Given the description of an element on the screen output the (x, y) to click on. 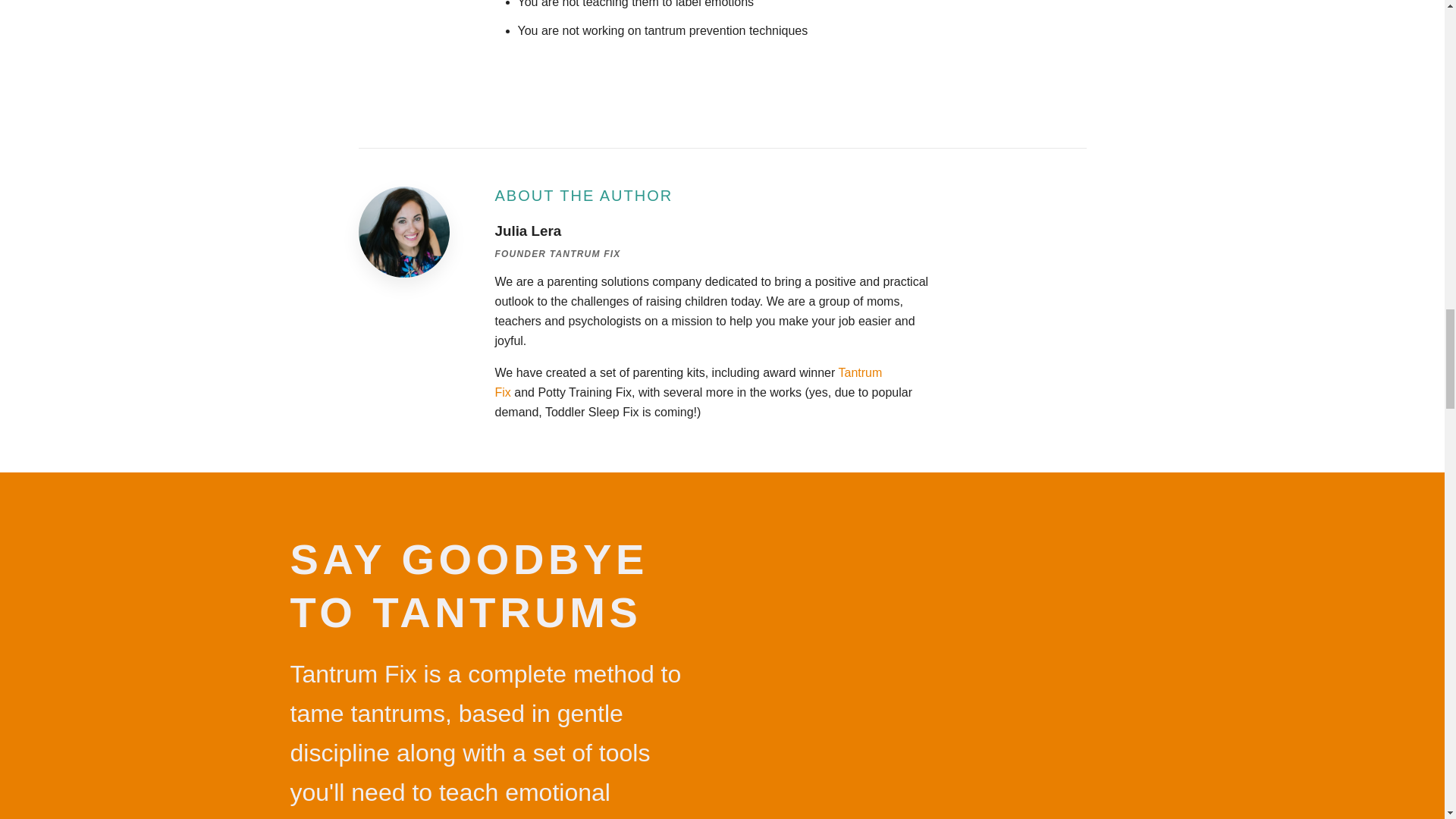
Tantrum Fix (352, 673)
Tantrum Fix (352, 673)
Tantrum Fix (688, 382)
